Given the description of an element on the screen output the (x, y) to click on. 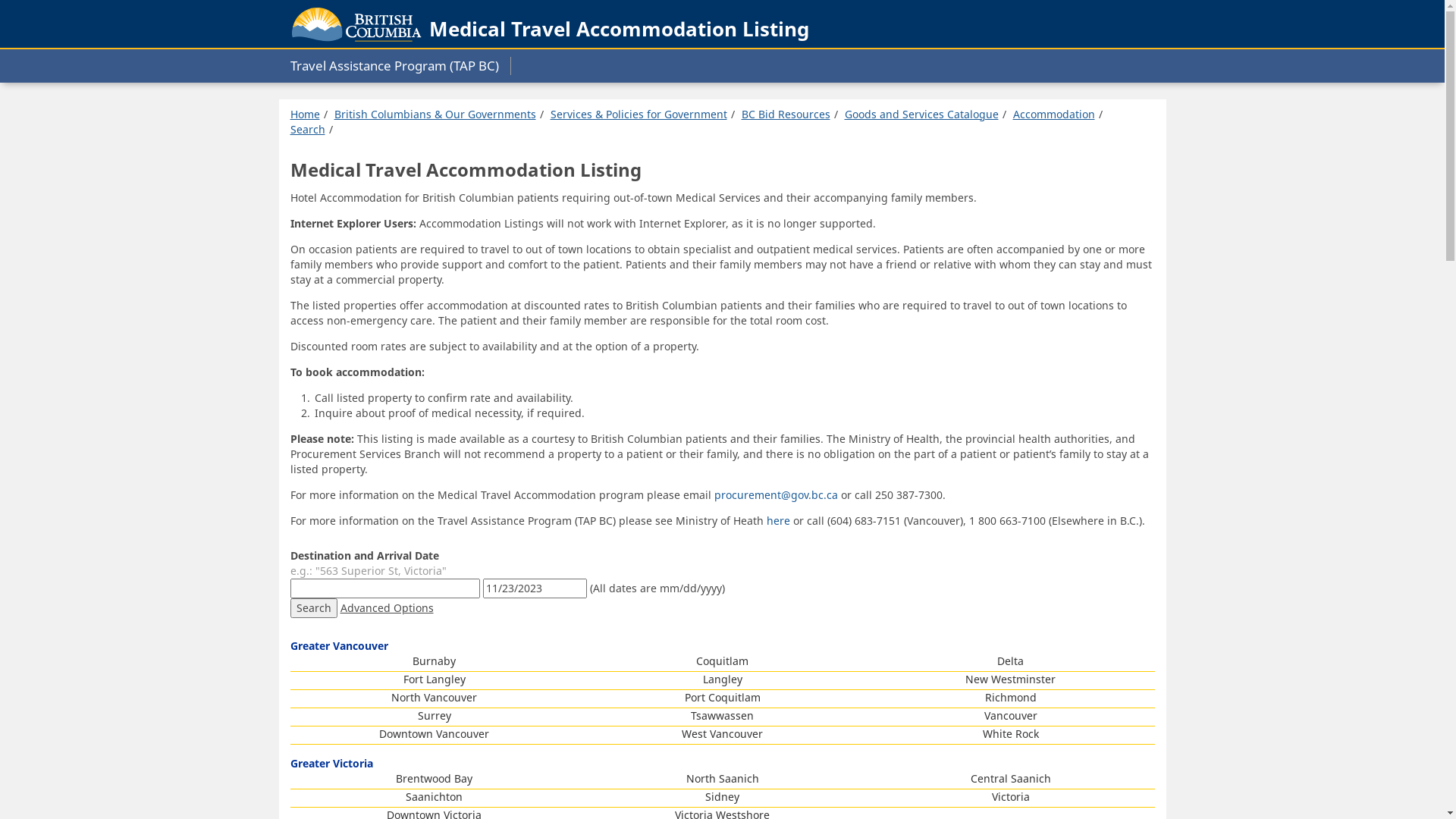
Burnaby Element type: text (433, 660)
New Westminster Element type: text (1010, 678)
Sidney Element type: text (722, 796)
Port Coquitlam Element type: text (721, 697)
Brentwood Bay Element type: text (433, 778)
Surrey Element type: text (433, 715)
Services & Policies for Government Element type: text (638, 113)
Tsawwassen Element type: text (721, 715)
Langley Element type: text (721, 678)
Search Element type: text (306, 129)
White Rock Element type: text (1010, 733)
Home Element type: text (304, 113)
Accommodation Element type: text (1054, 113)
Vancouver Element type: text (1010, 715)
Advanced Options Element type: text (386, 607)
here Element type: text (778, 520)
Coquitlam Element type: text (722, 660)
Victoria Element type: text (1010, 796)
Travel Assistance Program (TAP BC) Element type: text (399, 65)
Saanichton Element type: text (433, 796)
Goods and Services Catalogue Element type: text (921, 113)
procurement@gov.bc.ca Element type: text (775, 494)
Fort Langley Element type: text (434, 678)
Search Element type: text (312, 608)
Downtown Vancouver Element type: text (434, 733)
BC Bid Resources Element type: text (785, 113)
North Saanich Element type: text (721, 778)
Richmond Element type: text (1009, 697)
Delta Element type: text (1010, 660)
British Columbians & Our Governments Element type: text (434, 113)
North Vancouver Element type: text (433, 697)
